Given the description of an element on the screen output the (x, y) to click on. 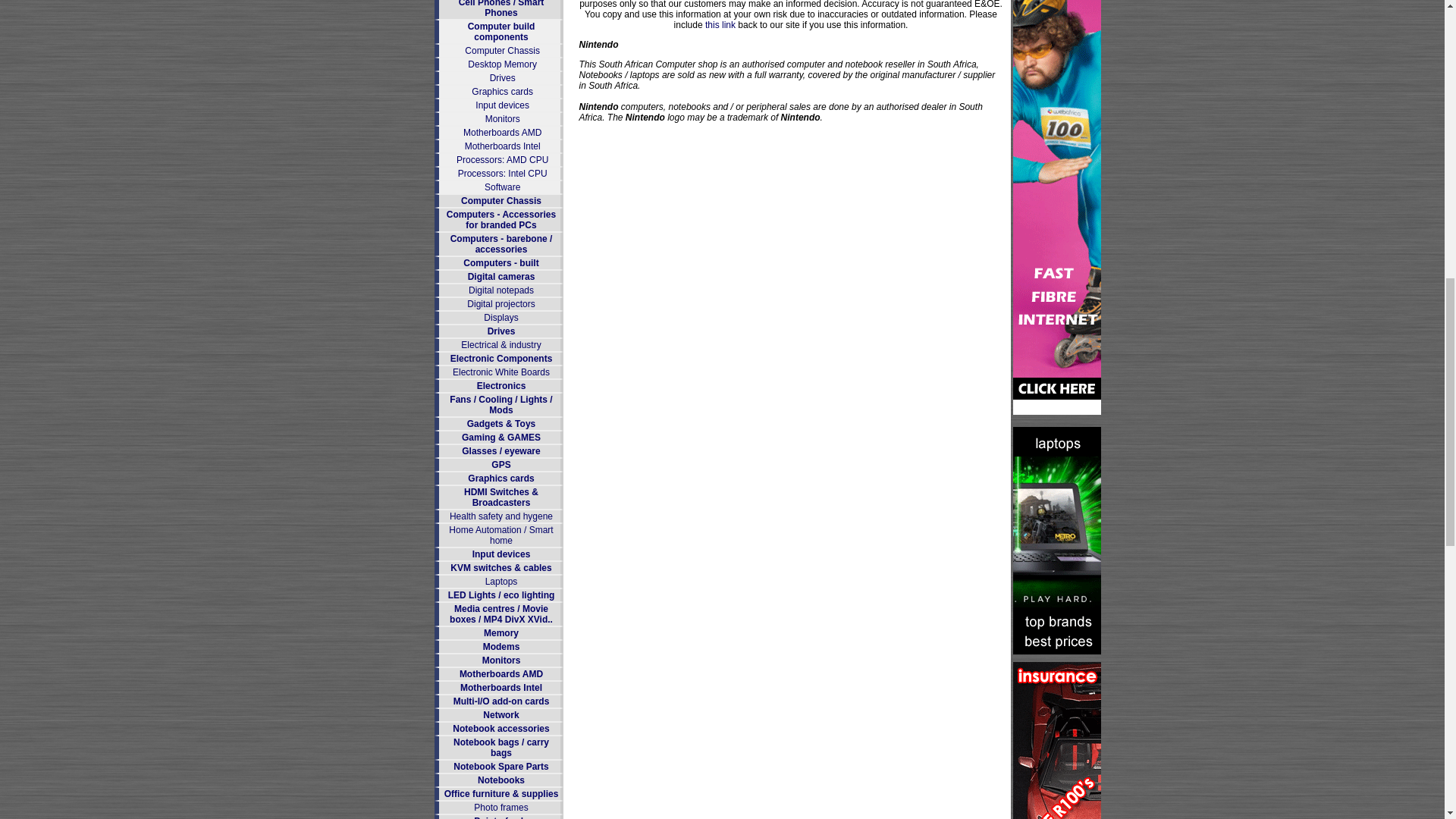
Photo frames (500, 807)
Laptops (501, 581)
Health safety and hygene (501, 516)
Displays (500, 317)
Digital notepads (501, 290)
Digital projectors (500, 303)
Electronic White Boards (501, 371)
